Given the description of an element on the screen output the (x, y) to click on. 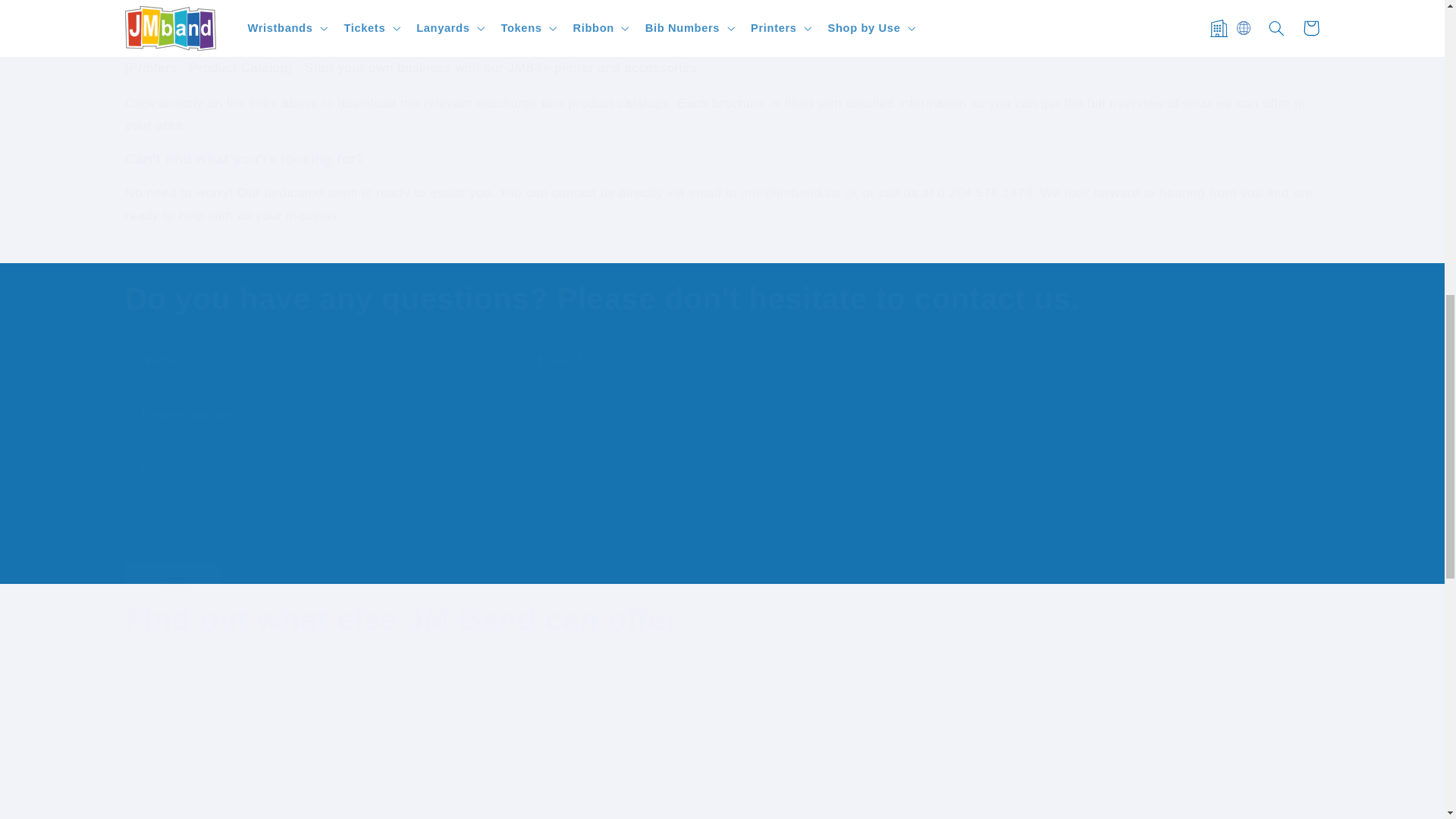
RFID Technology (872, 748)
See In-Stock Items (572, 756)
RFID Technology (872, 756)
Get Inspired (272, 748)
Get Inspired (272, 756)
See In-Stock Items (572, 748)
Responsible for the Future (1172, 756)
Responsible for the Future (1172, 748)
